Given the description of an element on the screen output the (x, y) to click on. 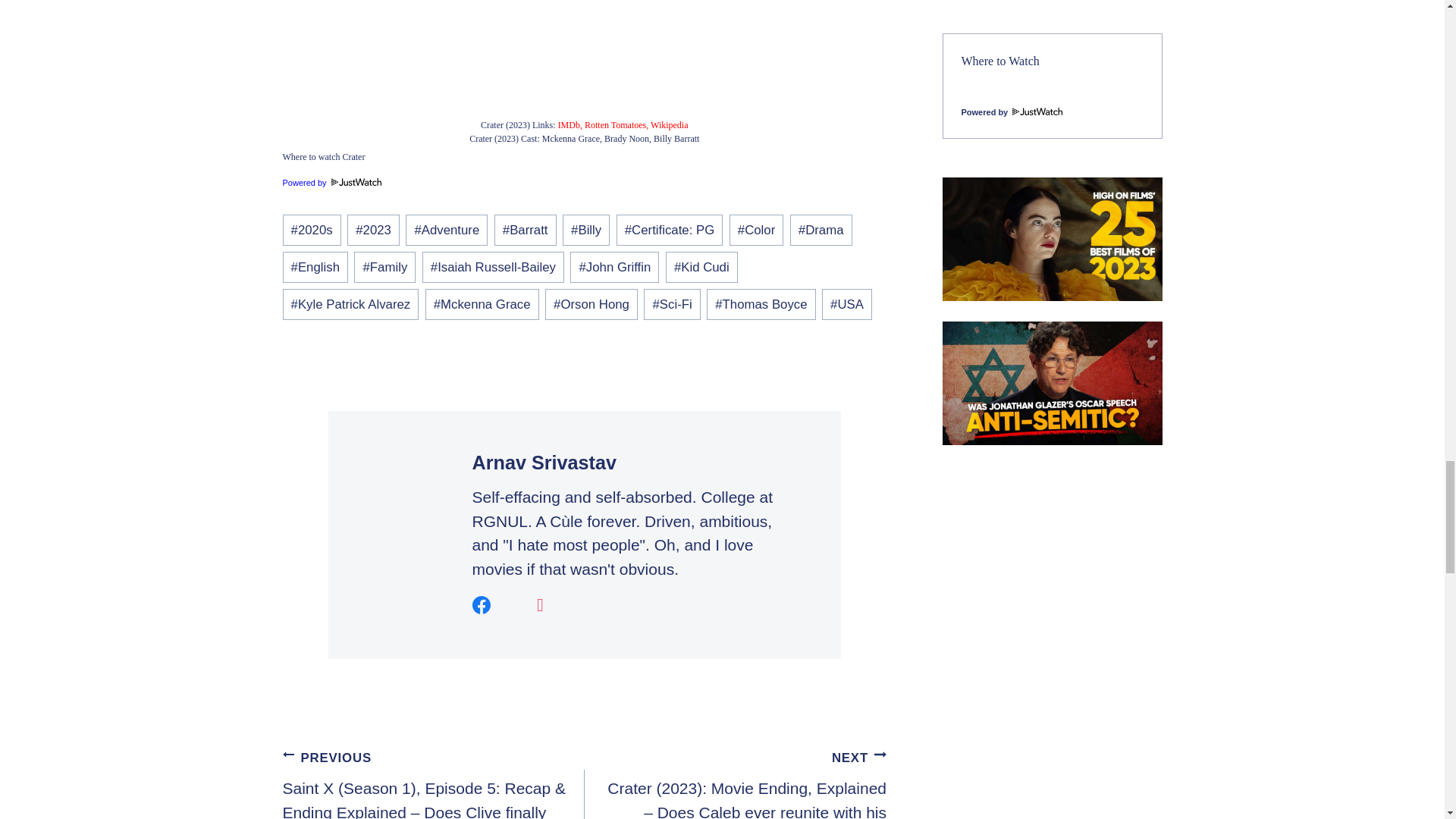
Rotten Tomatoes (615, 124)
Barratt (525, 229)
Adventure (446, 229)
IMDb (568, 124)
2023 (372, 229)
Family (383, 266)
John Griffin (614, 266)
Color (756, 229)
Certificate: PG (669, 229)
Wikipedia (669, 124)
